Given the description of an element on the screen output the (x, y) to click on. 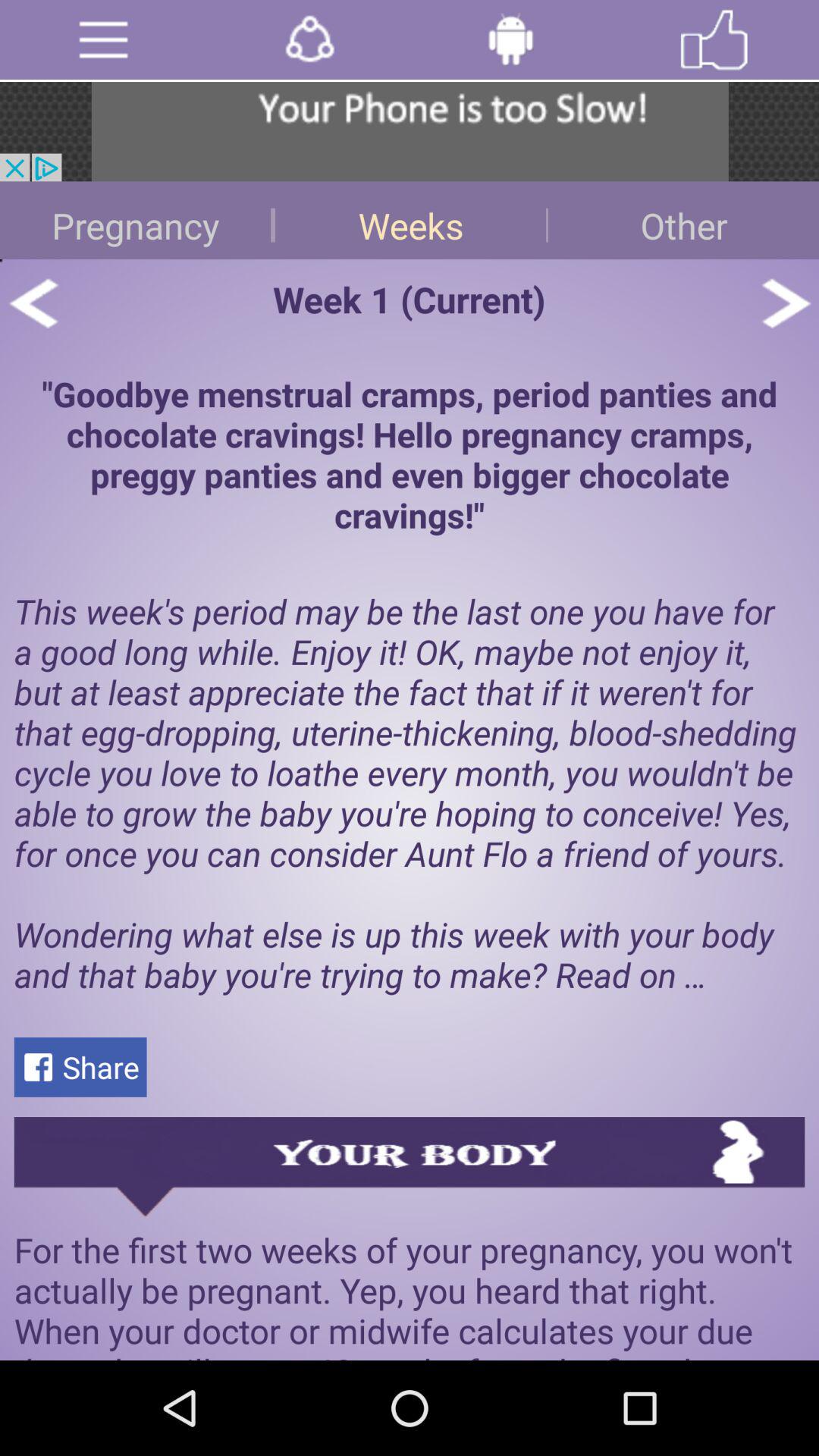
next page (785, 302)
